Given the description of an element on the screen output the (x, y) to click on. 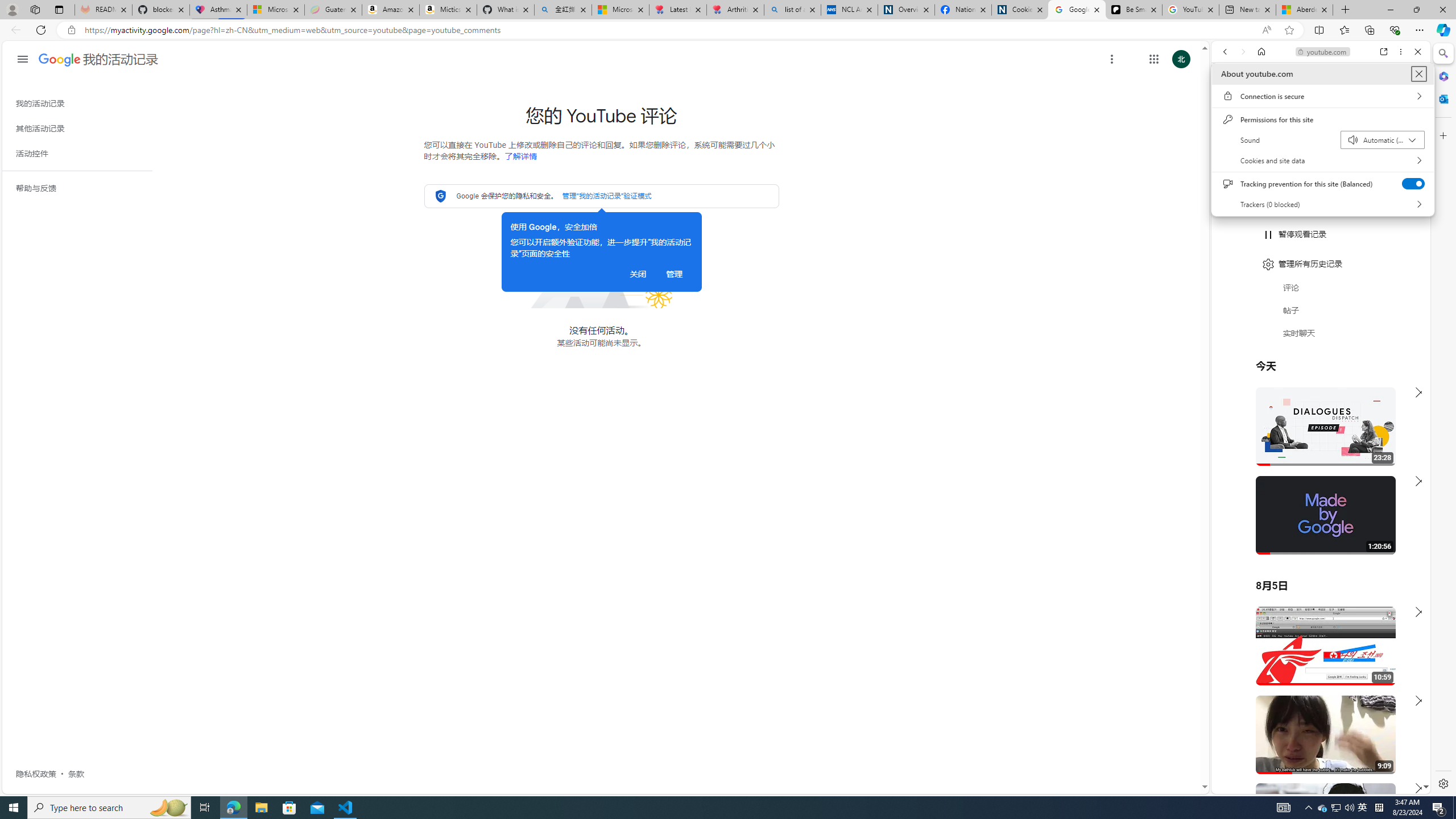
Cookies and site data (1322, 159)
Type here to search (108, 807)
Google (1322, 807)
#you (1320, 281)
you (1320, 253)
Actions for this site (1315, 755)
Microsoft Store (1371, 661)
YouTube - YouTube (289, 807)
